Given the description of an element on the screen output the (x, y) to click on. 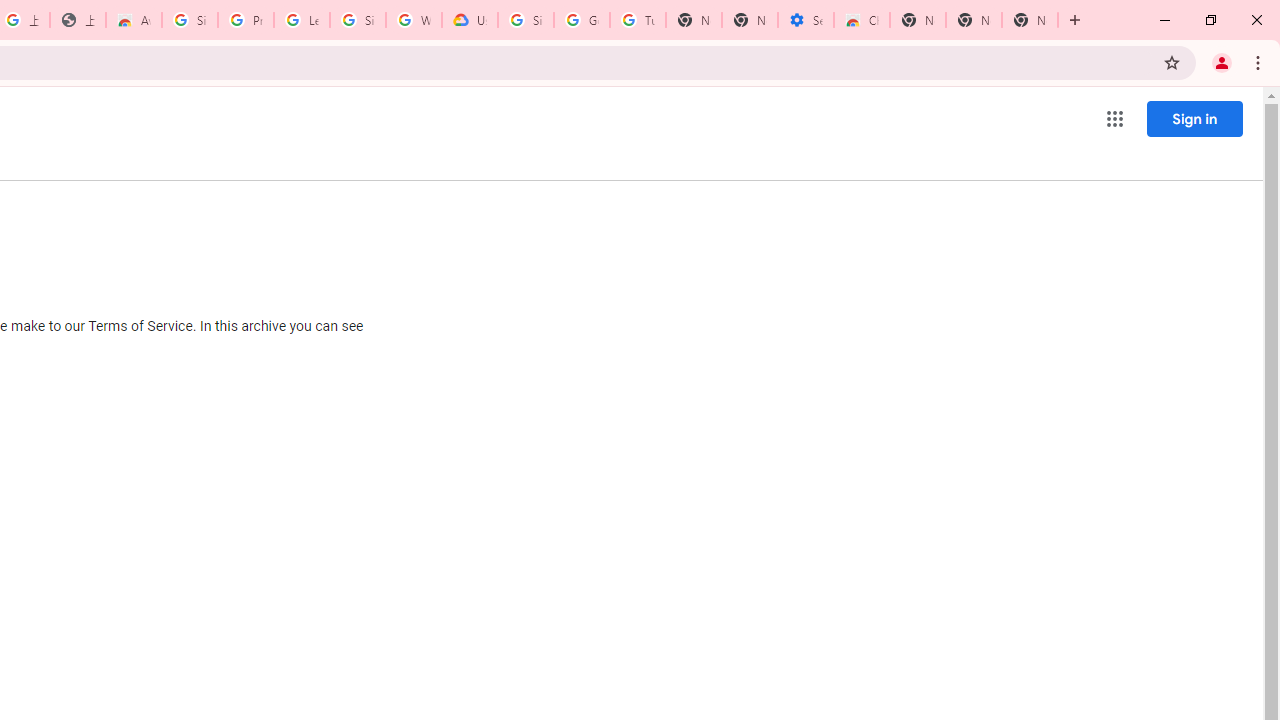
Sign in - Google Accounts (189, 20)
New Tab (1030, 20)
Turn cookies on or off - Computer - Google Account Help (637, 20)
Awesome Screen Recorder & Screenshot - Chrome Web Store (134, 20)
Google Account Help (582, 20)
Sign in - Google Accounts (525, 20)
Chrome Web Store - Accessibility extensions (861, 20)
